Given the description of an element on the screen output the (x, y) to click on. 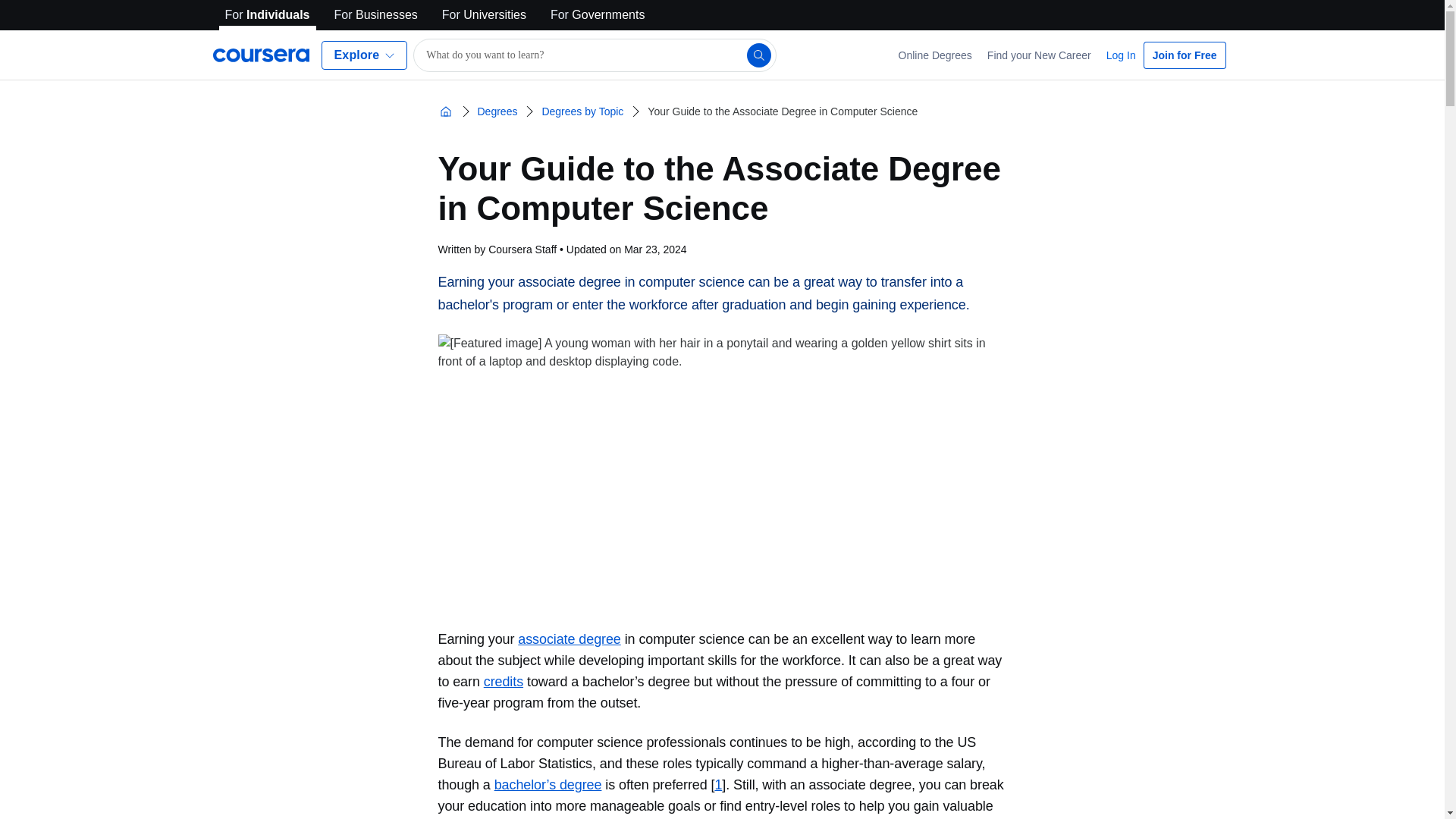
Log In (1120, 54)
Your Guide to the Associate Degree in Computer Science (782, 111)
Degrees by Topic (581, 111)
For Businesses (376, 15)
credits (502, 681)
For Individuals (266, 15)
Degrees (497, 111)
Explore (364, 54)
For Governments (597, 15)
For Universities (483, 15)
